Given the description of an element on the screen output the (x, y) to click on. 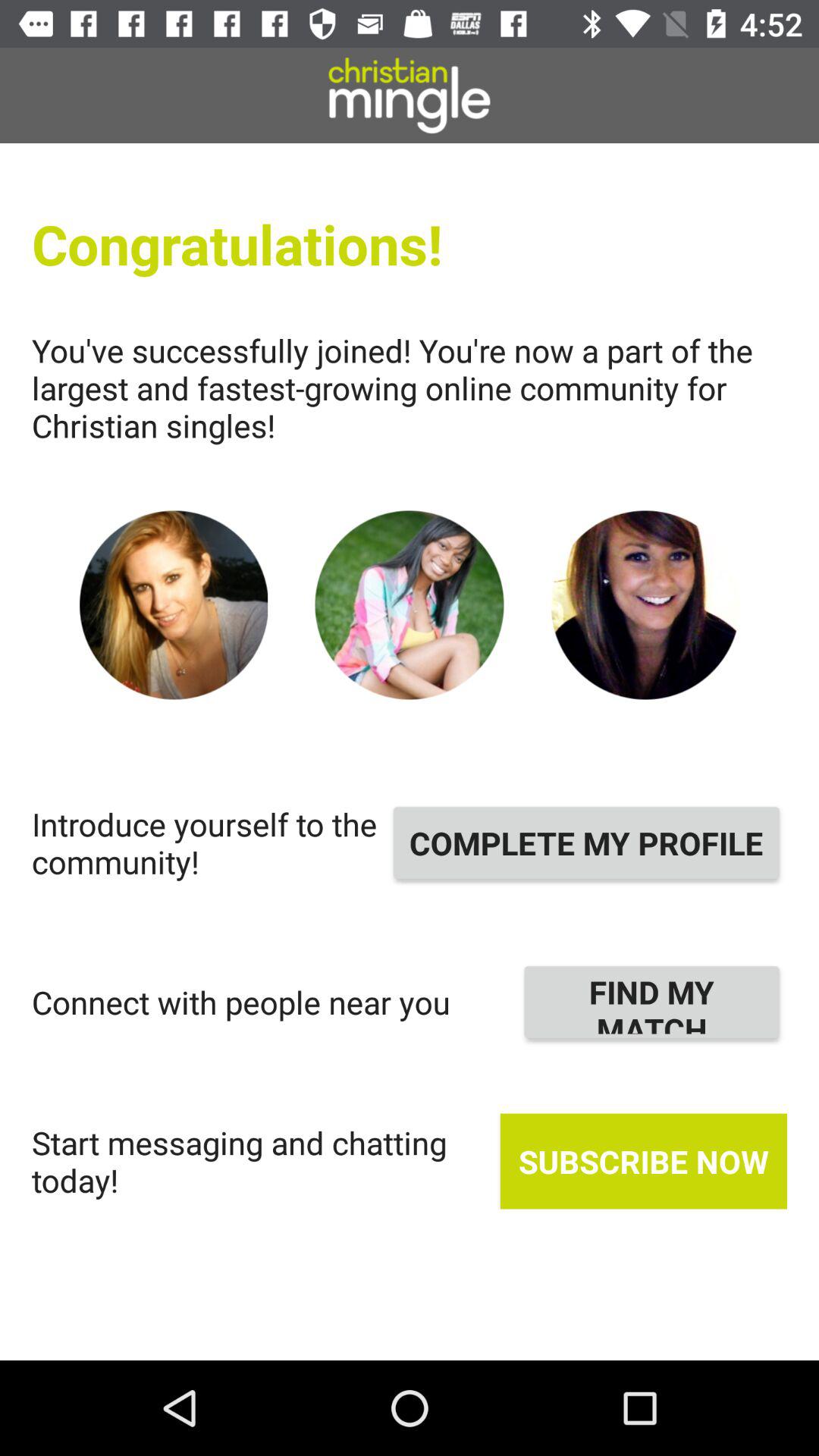
launch the complete my profile item (586, 842)
